Given the description of an element on the screen output the (x, y) to click on. 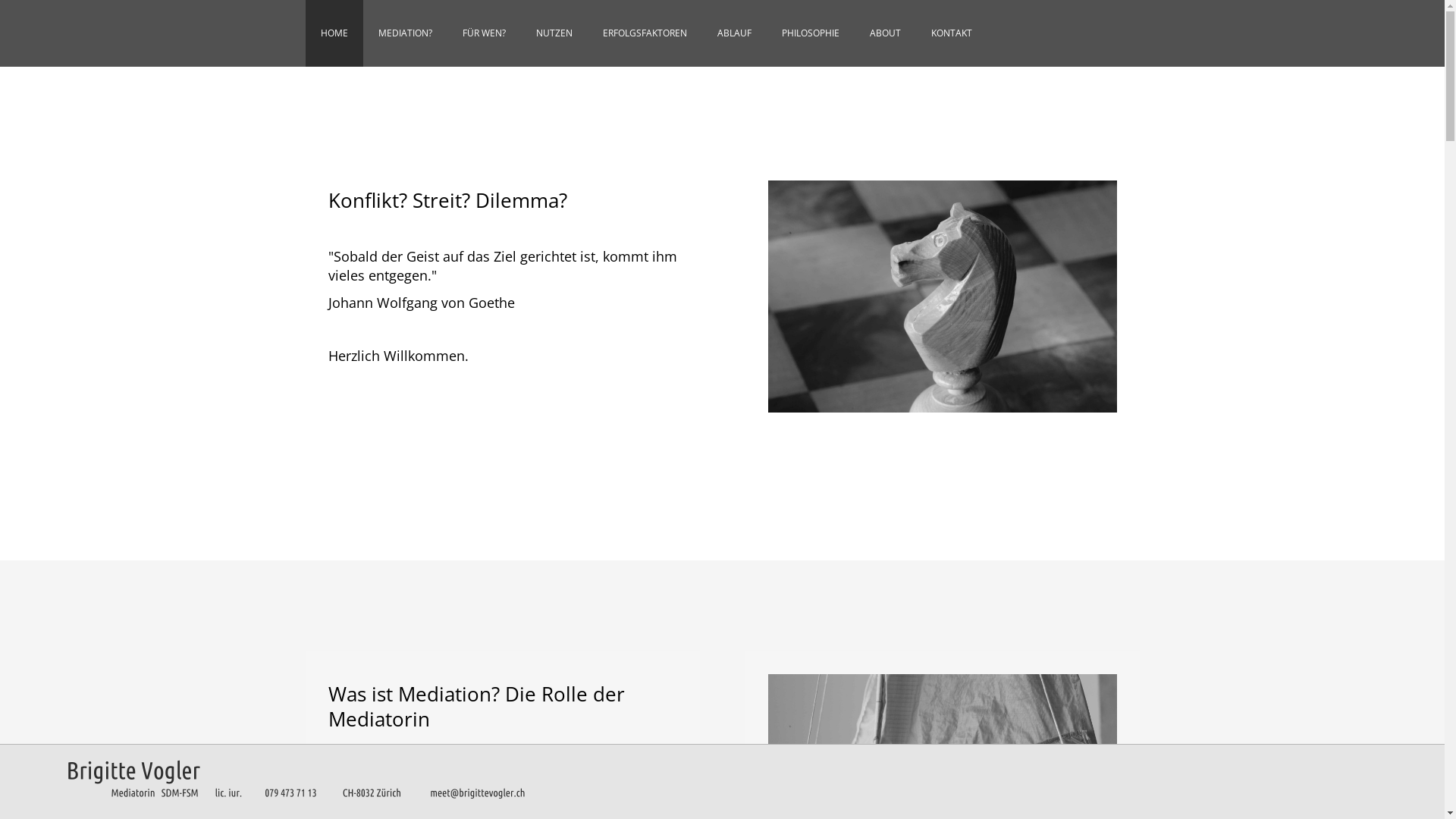
NUTZEN Element type: text (553, 33)
ERFOLGSFAKTOREN Element type: text (643, 33)
HOME Element type: text (333, 33)
ABLAUF Element type: text (734, 33)
KONTAKT Element type: text (951, 33)
ABOUT Element type: text (884, 33)
MEDIATION? Element type: text (404, 33)
PHILOSOPHIE Element type: text (809, 33)
